Given the description of an element on the screen output the (x, y) to click on. 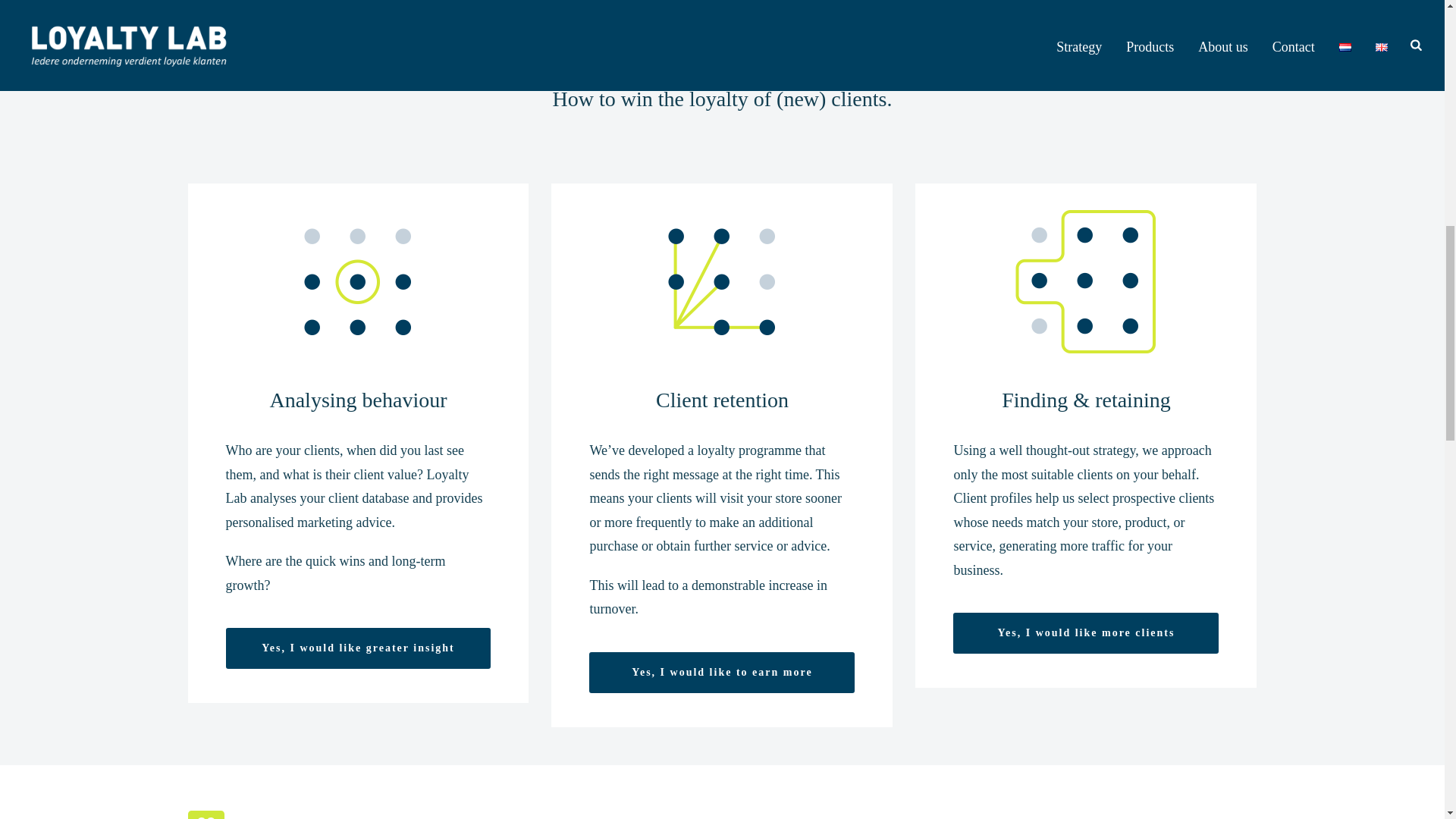
Yes, I would like greater insight (358, 648)
Yes, I would like to earn more (721, 671)
strategie03 (1085, 281)
strategie02 (721, 281)
Yes, I would like greater insight (358, 648)
strategie01 (357, 281)
Yes, I would like more clients (1085, 632)
Yes, I would like more clients (1085, 632)
Yes, I would like to earn more (721, 671)
